Given the description of an element on the screen output the (x, y) to click on. 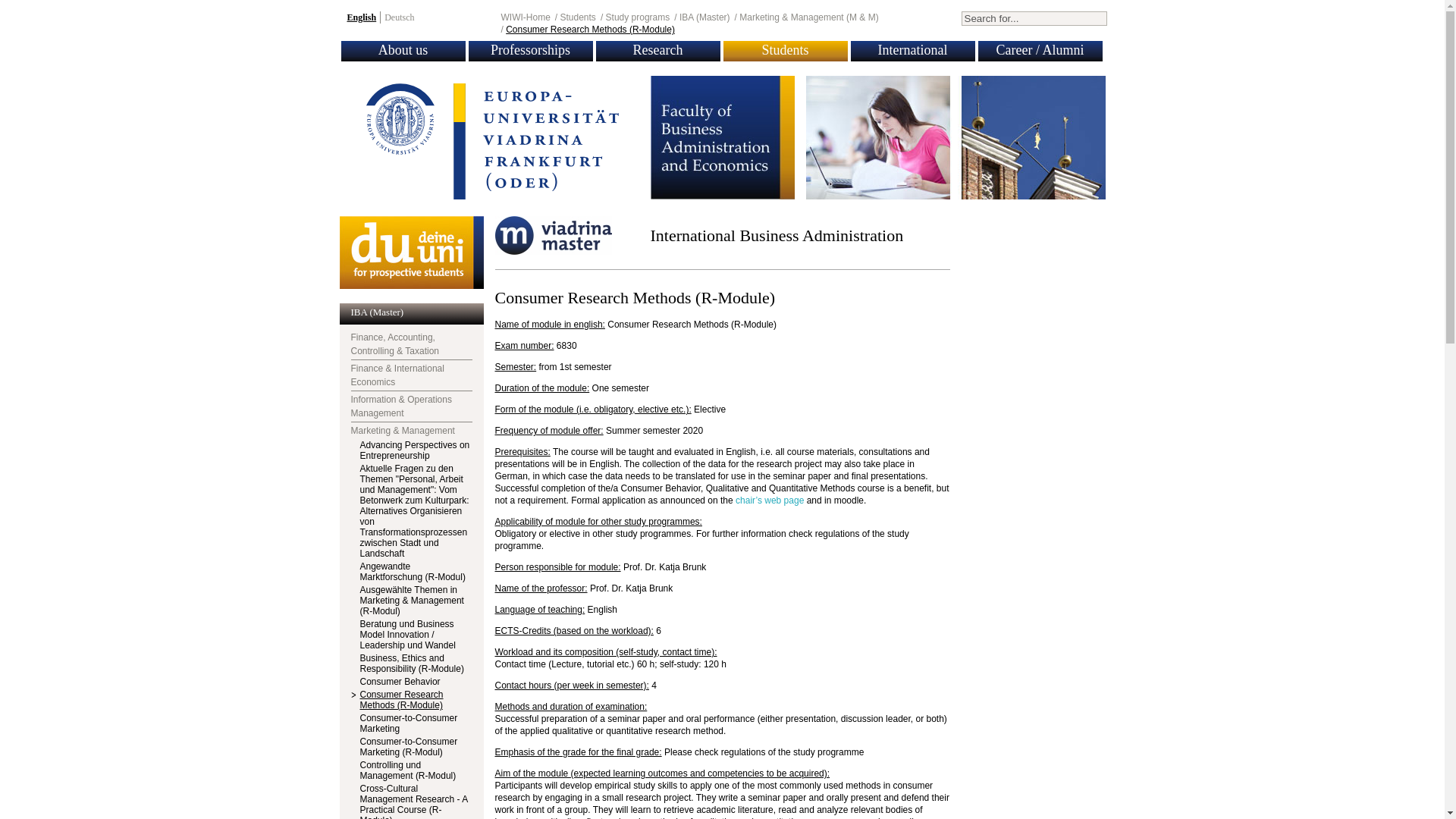
Search for... (1033, 18)
WIWI-Home (525, 17)
Advancing Perspectives on Entrepreneurship (413, 450)
Research (657, 49)
Deutsch (398, 17)
Search for... (1033, 18)
Students (577, 17)
Professorships (530, 49)
About us (403, 49)
Students (784, 49)
Study programs (637, 17)
Consumer-to-Consumer Marketing (408, 722)
International (912, 49)
English (362, 17)
